Given the description of an element on the screen output the (x, y) to click on. 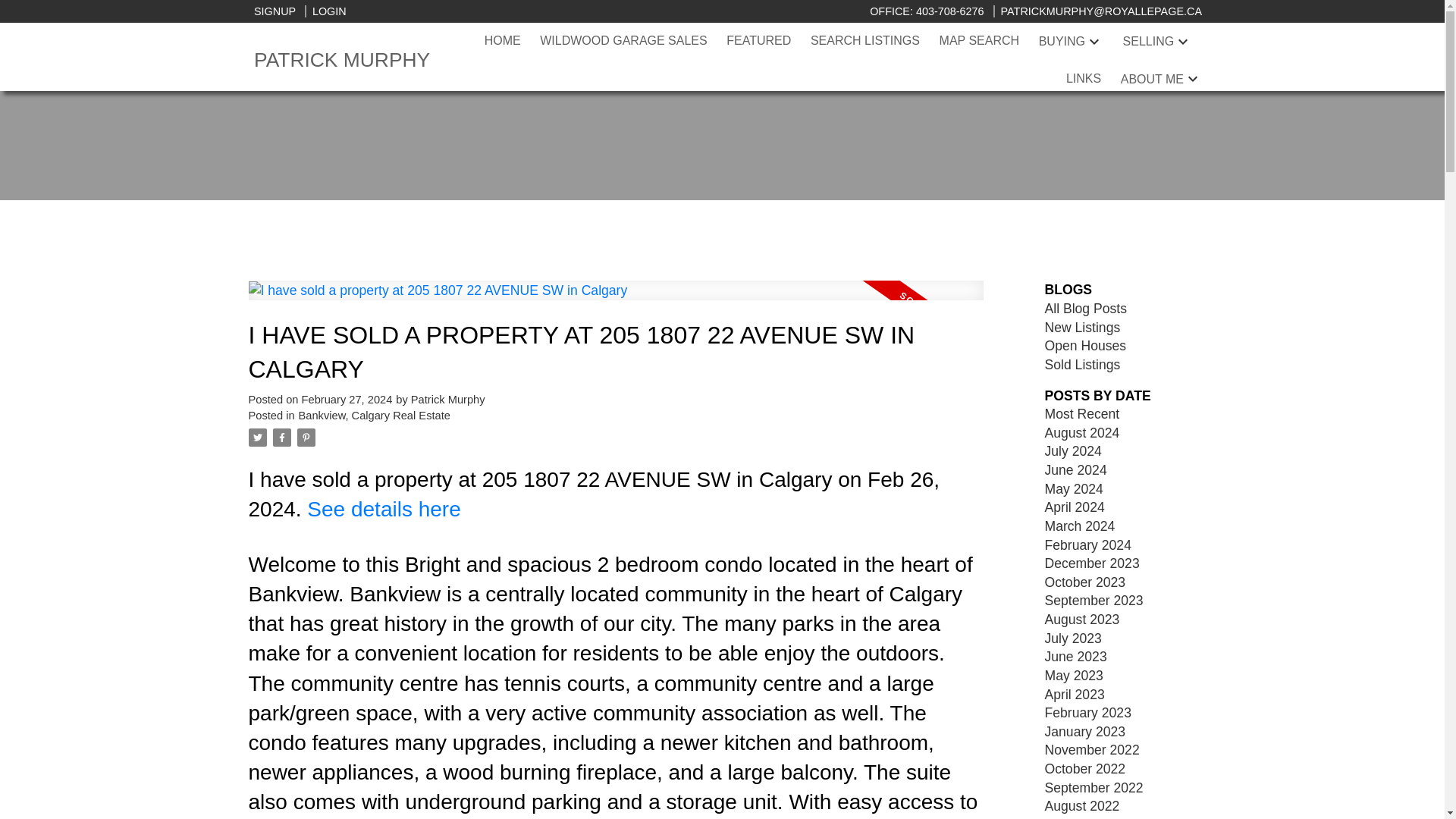
LOGIN (325, 10)
Read full post (616, 299)
I HAVE SOLD A PROPERTY AT 205 1807 22 AVENUE SW IN CALGARY (616, 352)
LINKS (1082, 78)
MAP SEARCH (979, 40)
PATRICK MURPHY (363, 59)
SIGNUP (274, 10)
SEARCH LISTINGS (865, 40)
Bankview, Calgary Real Estate (373, 415)
OFFICE: 403-708-6276 (928, 10)
ABOUT ME (1152, 79)
FEATURED (758, 40)
HOME (502, 40)
WILDWOOD GARAGE SALES (623, 40)
